Given the description of an element on the screen output the (x, y) to click on. 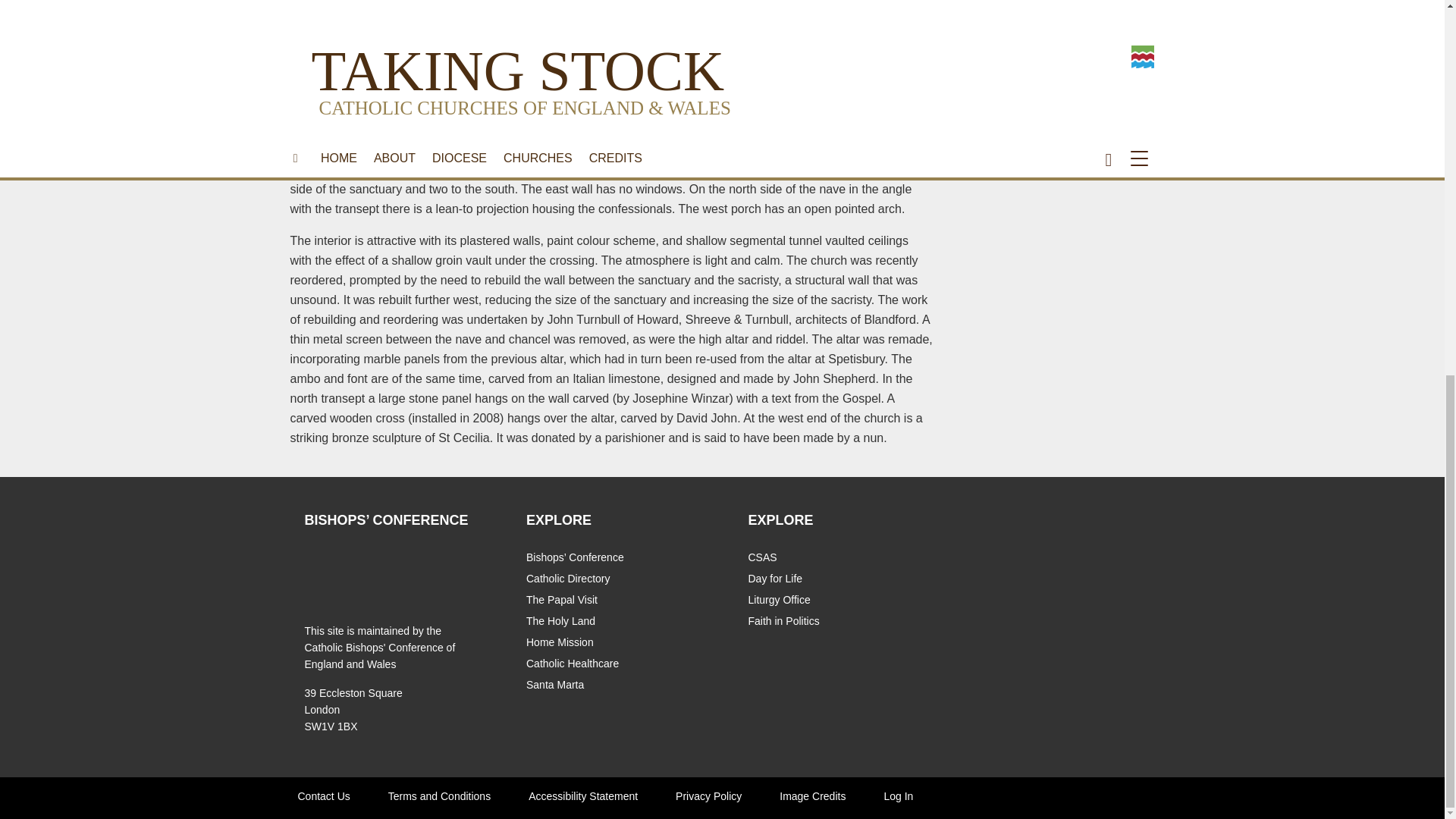
Bishops' Conference (327, 569)
